Given the description of an element on the screen output the (x, y) to click on. 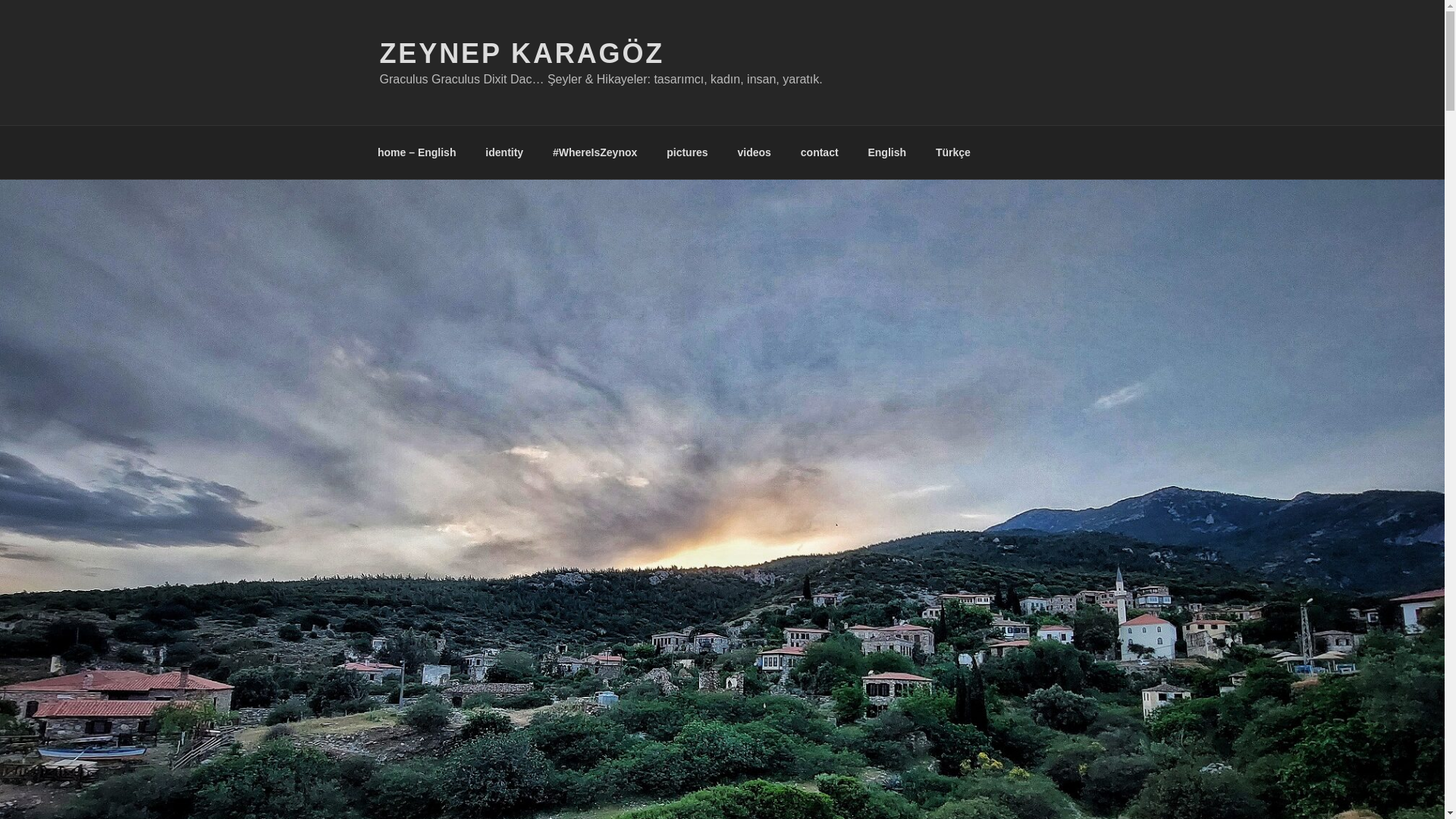
identity (504, 151)
contact (819, 151)
videos (753, 151)
pictures (686, 151)
English (887, 151)
